Given the description of an element on the screen output the (x, y) to click on. 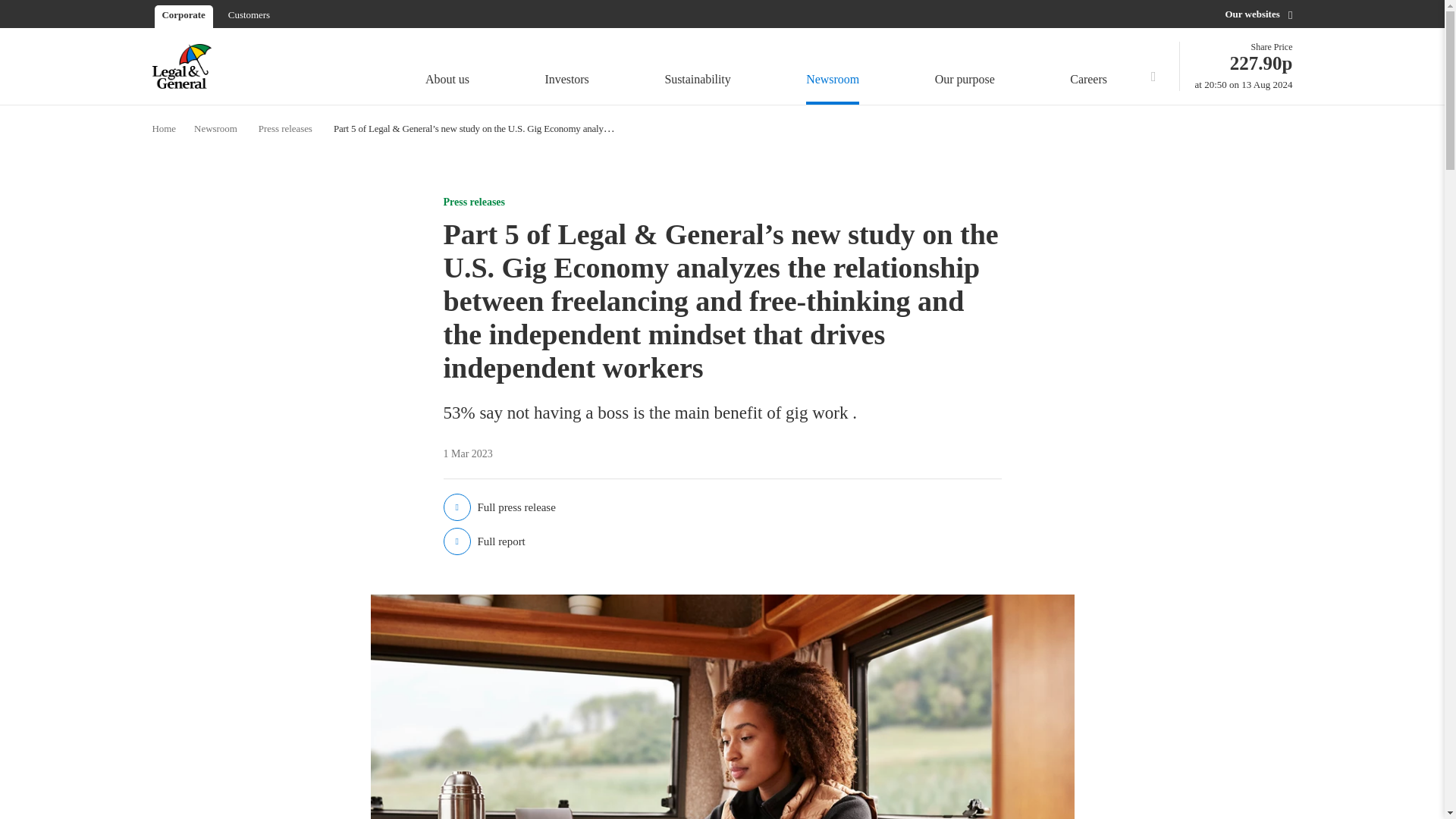
Investors (566, 68)
Customers (248, 14)
Newsroom (832, 68)
Careers (1091, 68)
Our purpose (1243, 65)
Our websites (964, 68)
Sustainability (1258, 14)
About us (696, 68)
